Given the description of an element on the screen output the (x, y) to click on. 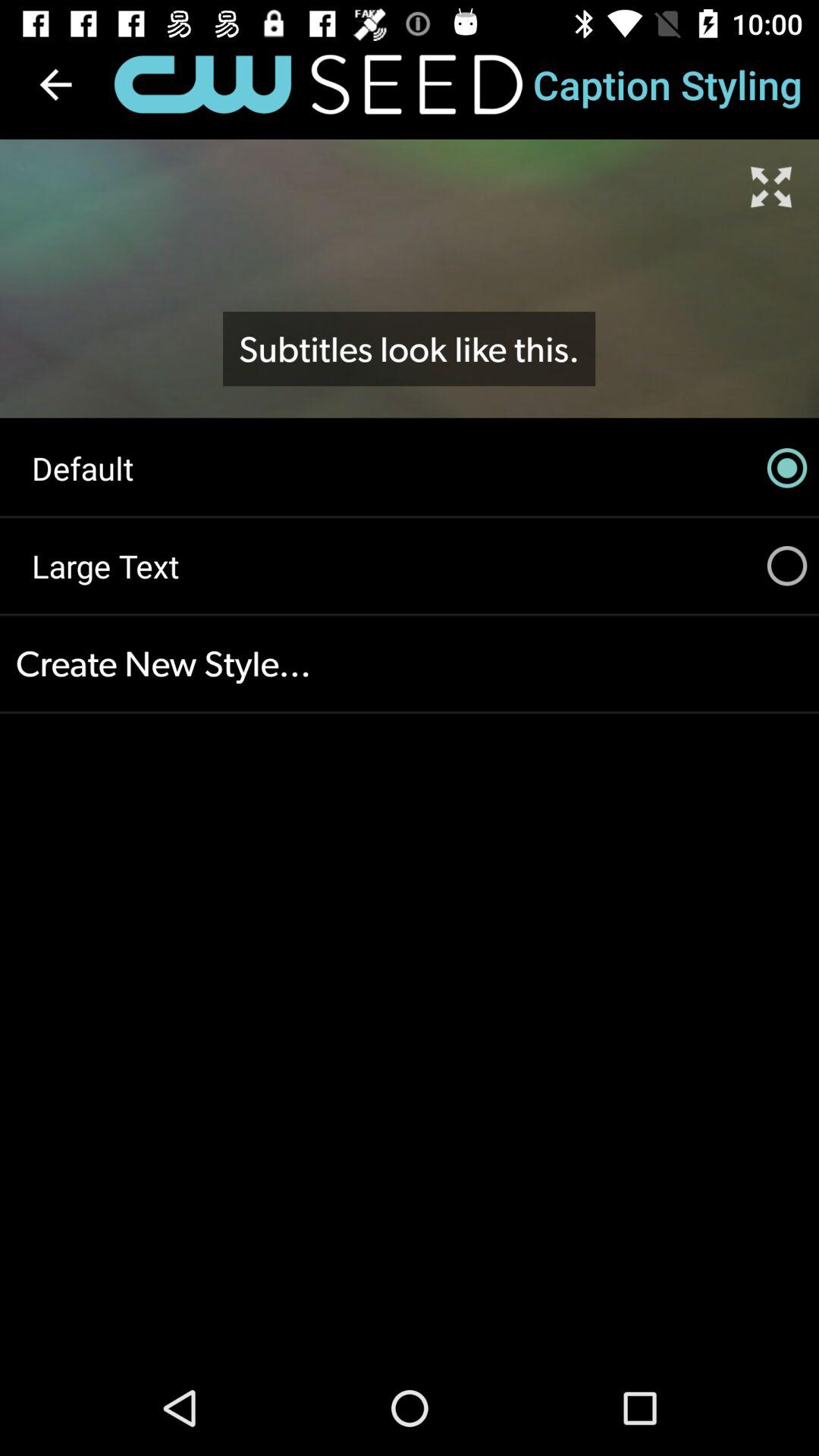
press the icon above the large text icon (409, 467)
